Given the description of an element on the screen output the (x, y) to click on. 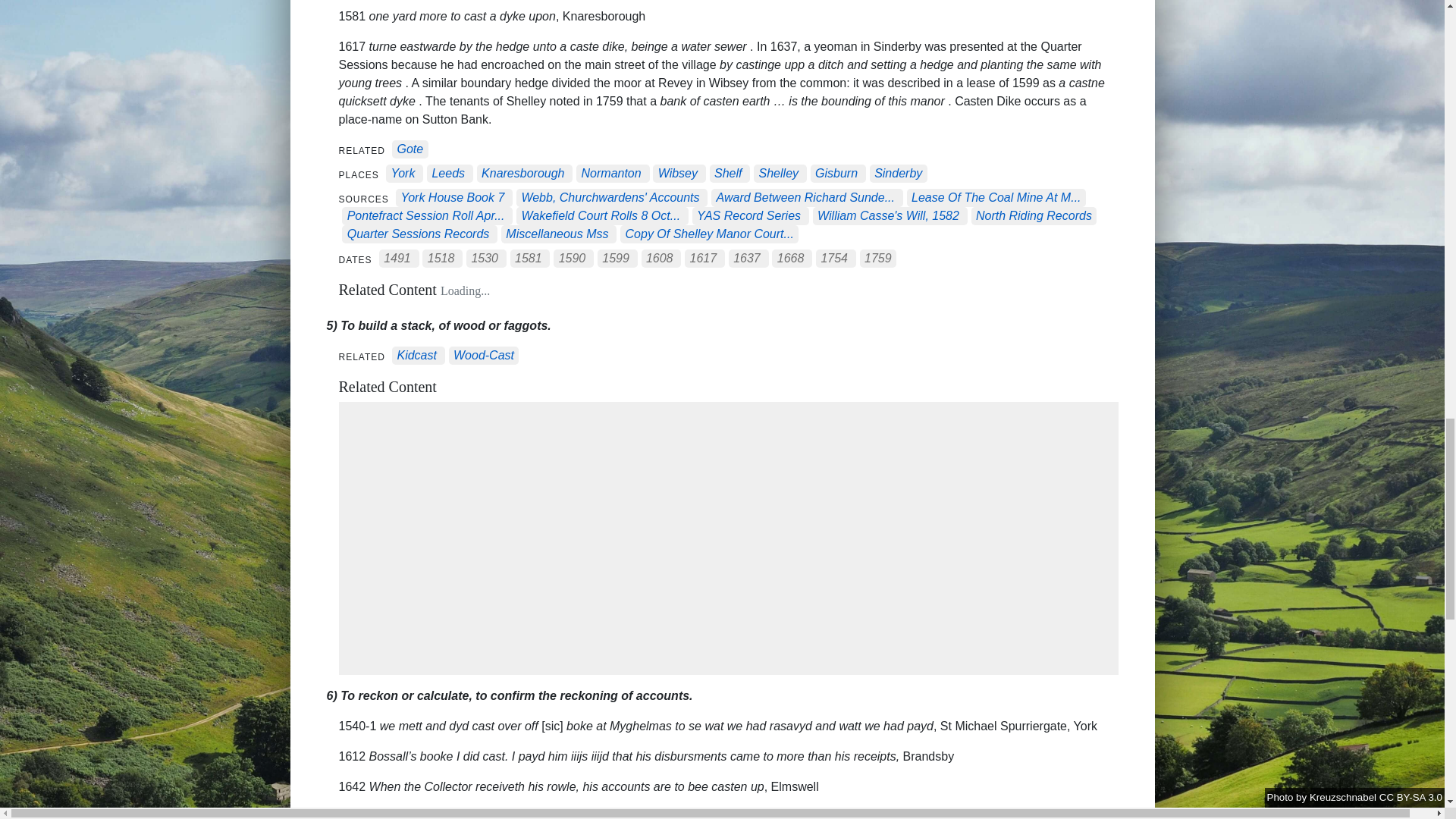
William Casse'S Will, 1582 (887, 215)
Pontefract Session Roll Apr... (426, 215)
Gote (409, 149)
Leeds (447, 173)
Award Between Richard Sunde... (805, 197)
YAS Record Series (748, 215)
Gisburn (836, 173)
Shelf (727, 173)
Shelley (777, 173)
York (402, 173)
